Given the description of an element on the screen output the (x, y) to click on. 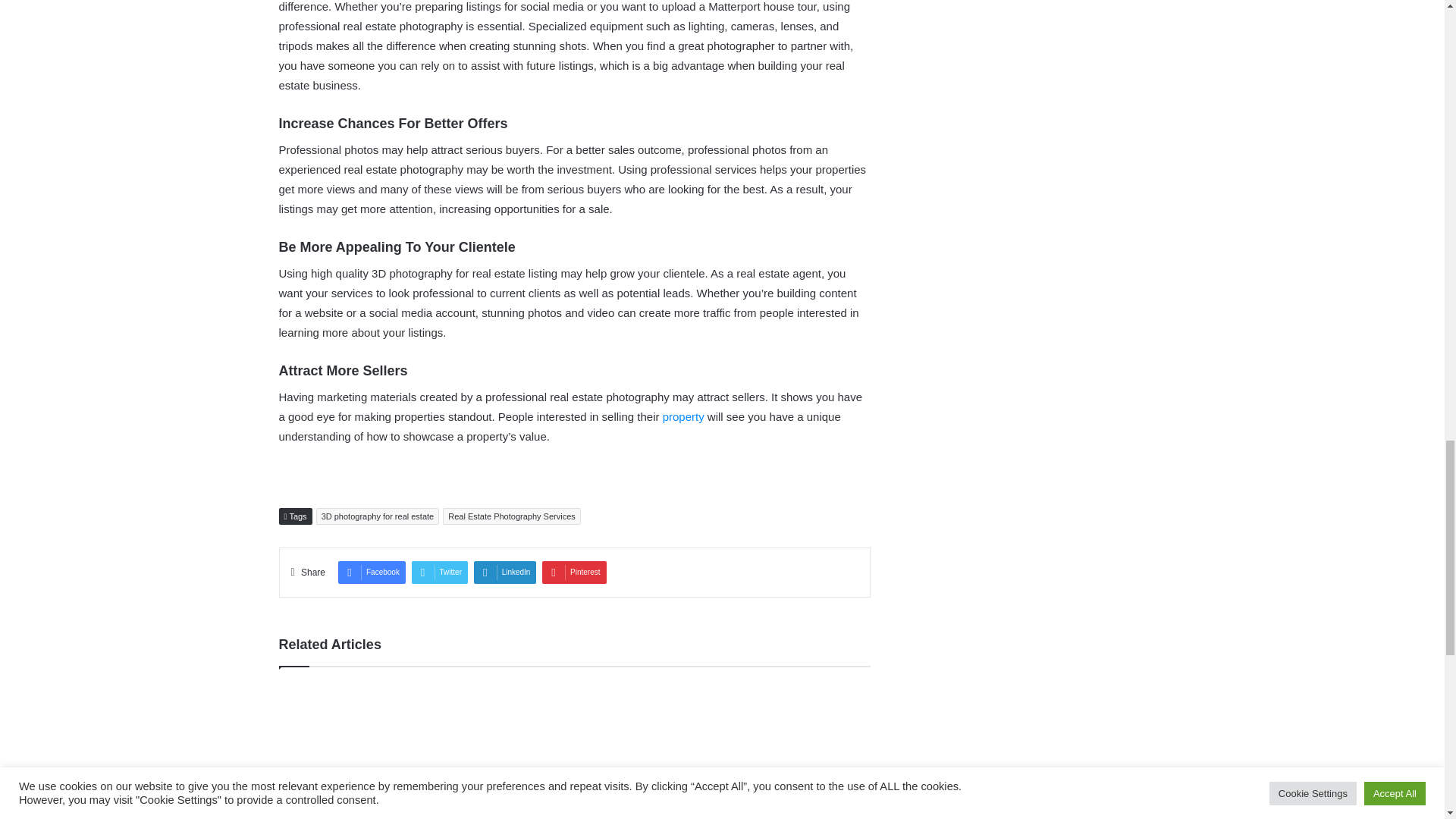
Real Estate Photography Services (511, 515)
3D photography for real estate (377, 515)
property (683, 416)
